Given the description of an element on the screen output the (x, y) to click on. 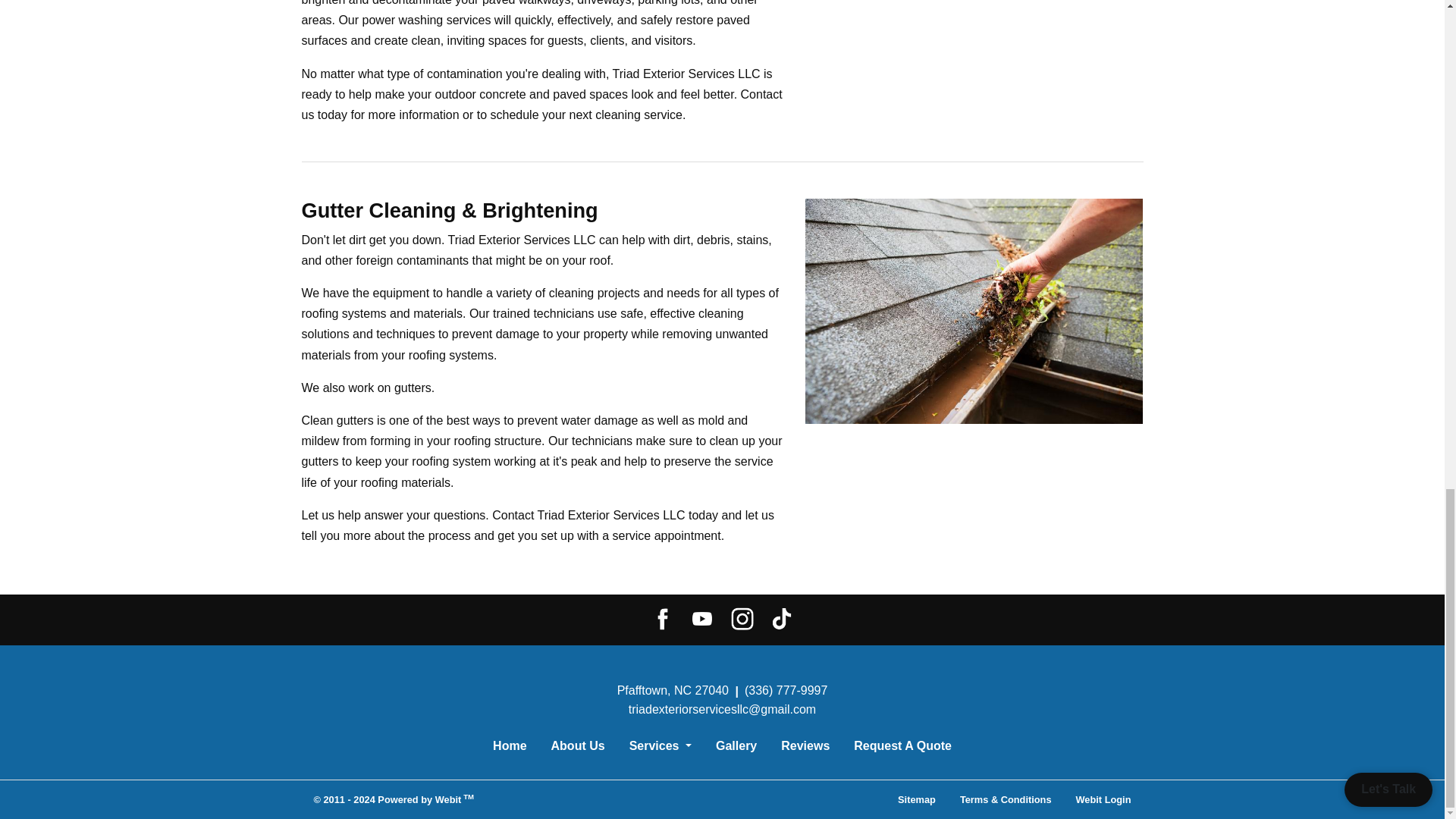
Gallery (735, 746)
Request A Quote (902, 746)
Services (660, 746)
Home (509, 746)
Webit Login (1103, 799)
Reviews (804, 746)
Sitemap (916, 799)
About Us (577, 746)
